Given the description of an element on the screen output the (x, y) to click on. 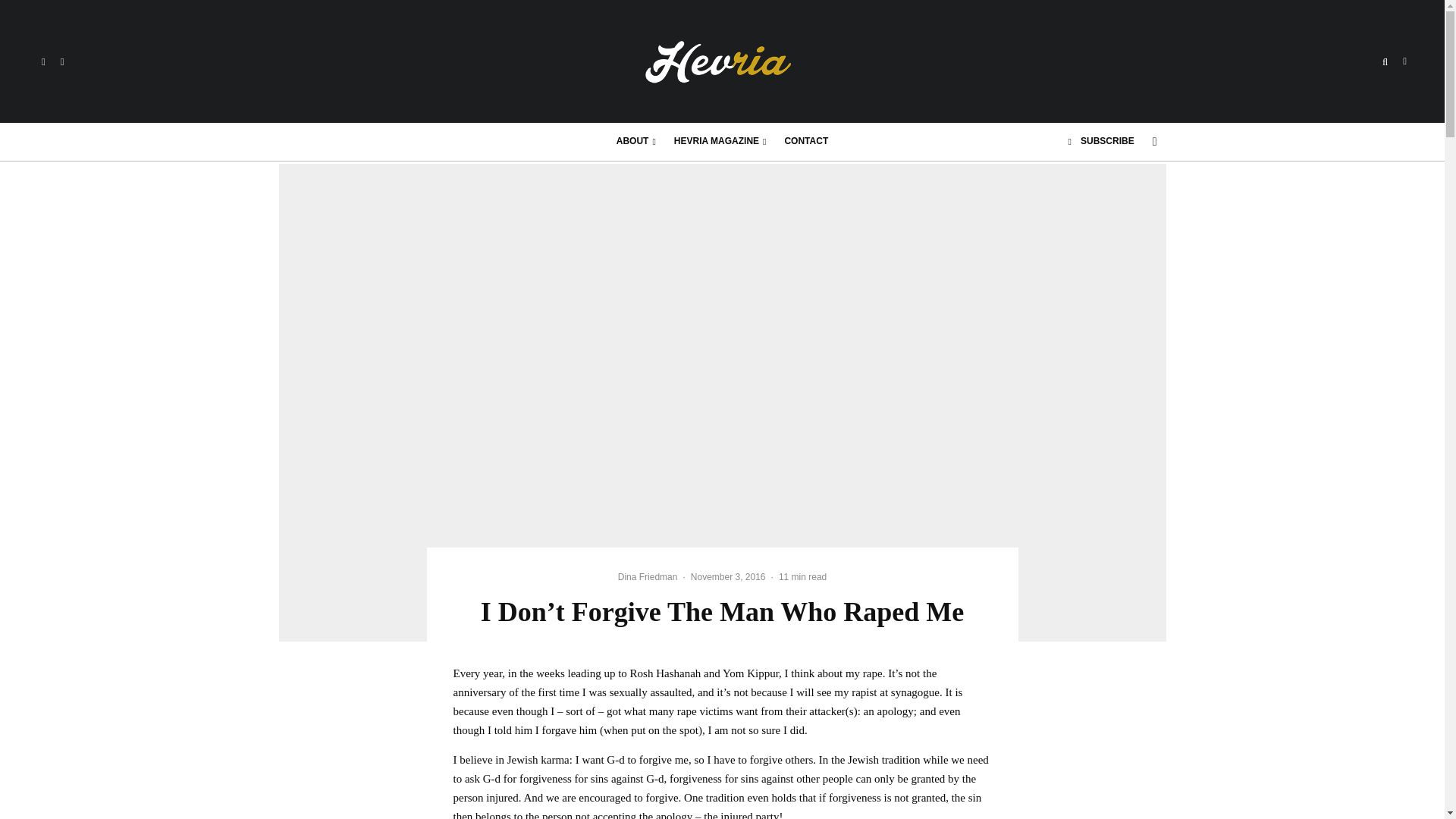
Dina Friedman (647, 576)
CONTACT (805, 141)
SUBSCRIBE (1100, 141)
HEVRIA MAGAZINE (720, 141)
ABOUT (636, 141)
